Given the description of an element on the screen output the (x, y) to click on. 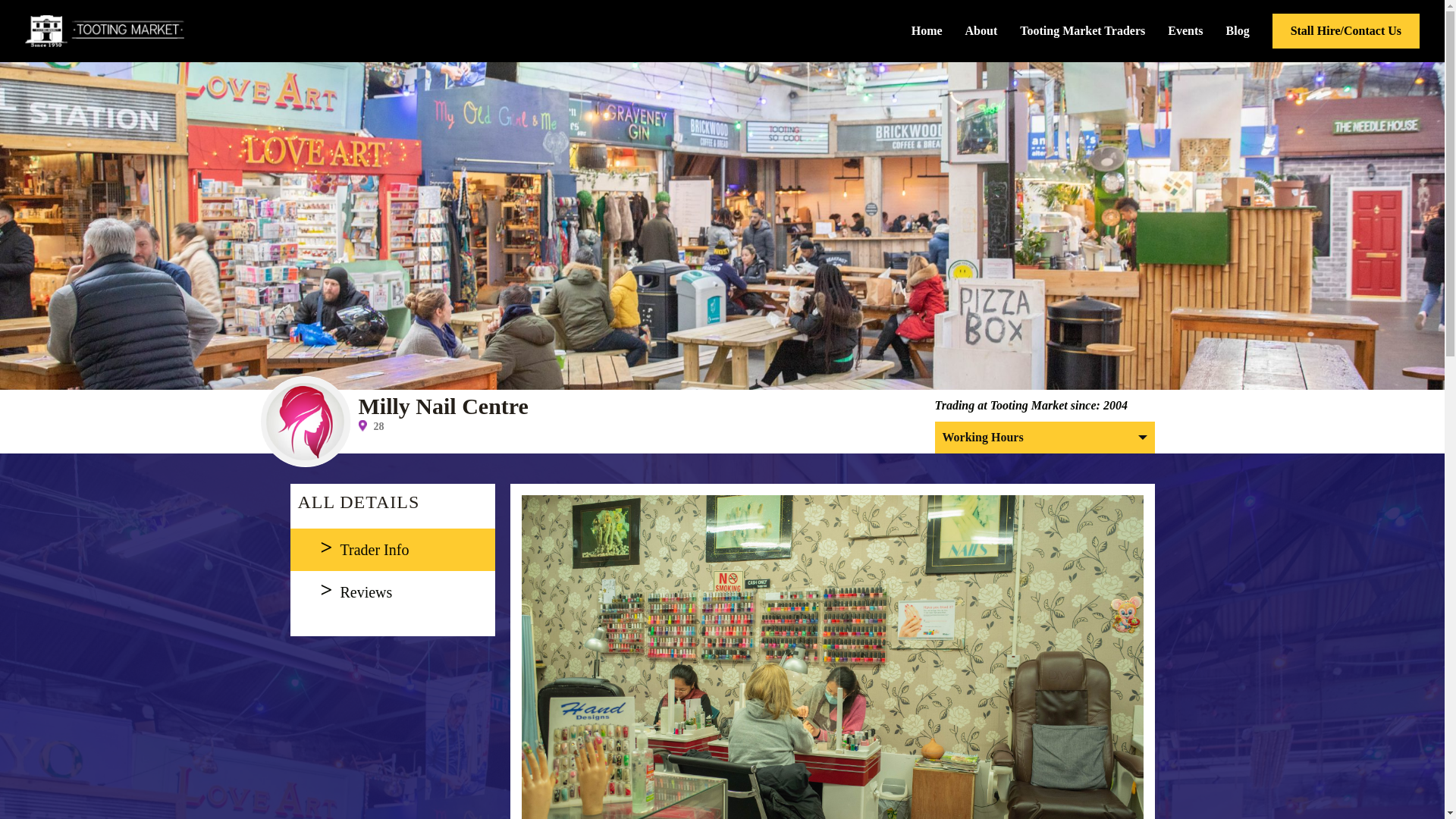
Trader Info (392, 549)
Reviews (392, 591)
About (981, 30)
Tooting Market Traders (1082, 30)
Events (1184, 30)
Home (926, 30)
